Given the description of an element on the screen output the (x, y) to click on. 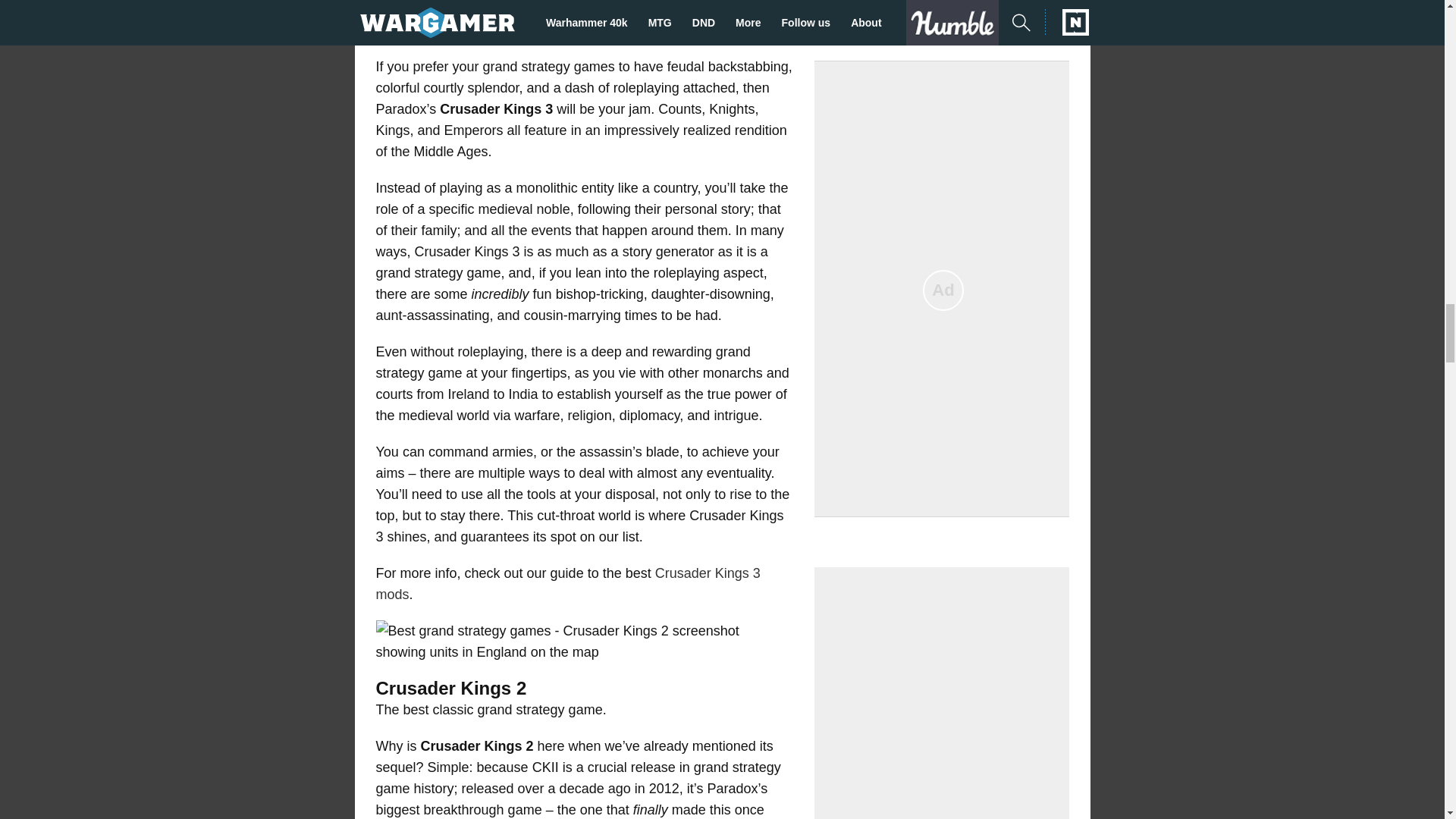
best-grand-strategy-games-crusader-kings-2-britain-map (584, 640)
